Given the description of an element on the screen output the (x, y) to click on. 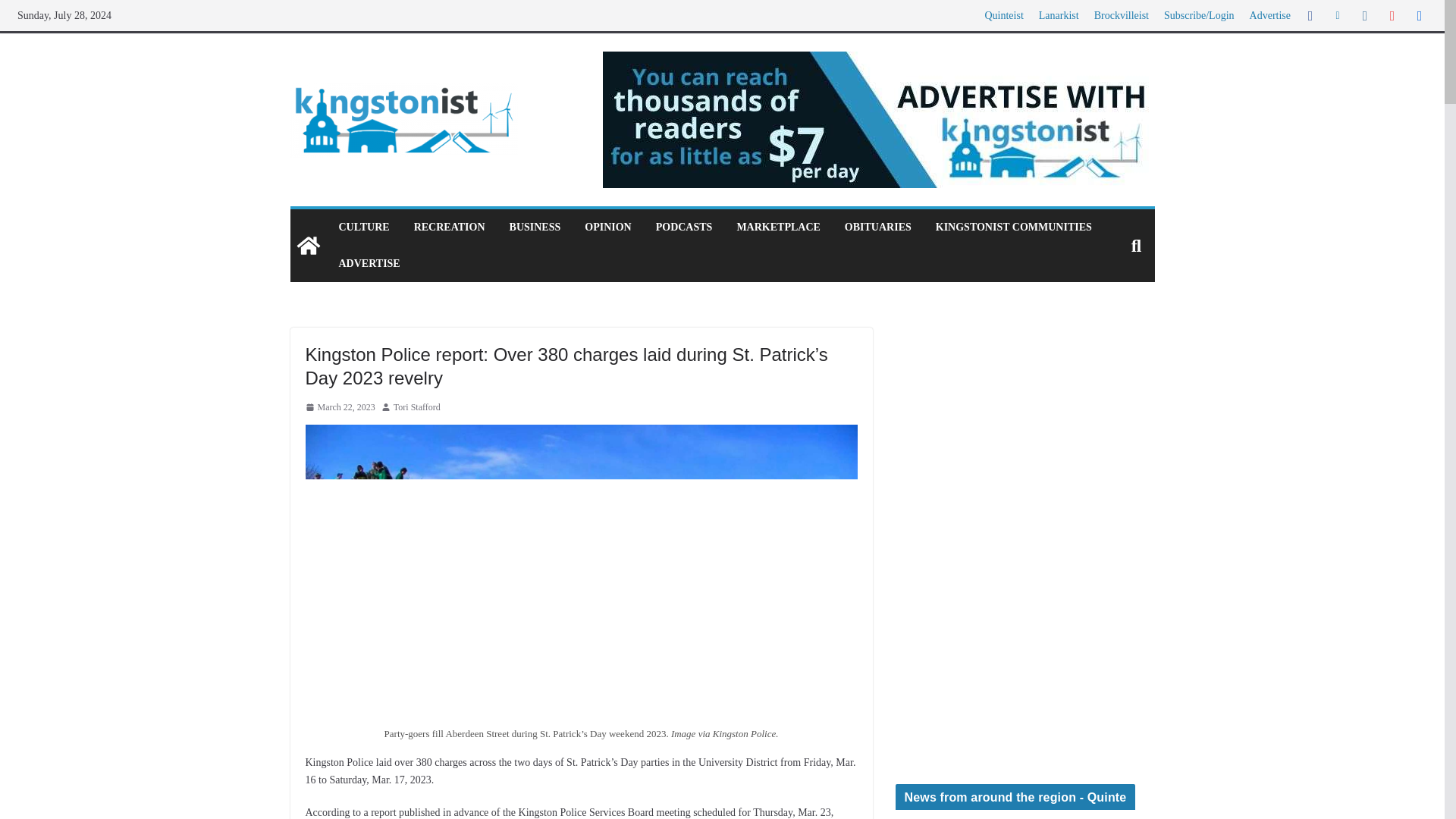
OBITUARIES (877, 227)
KINGSTONIST COMMUNITIES (1014, 227)
MARKETPLACE (777, 227)
Lanarkist (1058, 15)
BUSINESS (534, 227)
Advertise (1269, 15)
PODCASTS (684, 227)
ADVERTISE (367, 263)
OPINION (607, 227)
RECREATION (448, 227)
Kingstonist News (1024, 414)
Tori Stafford (417, 407)
4:07 pm (339, 407)
CULTURE (362, 227)
Quinteist (1003, 15)
